Given the description of an element on the screen output the (x, y) to click on. 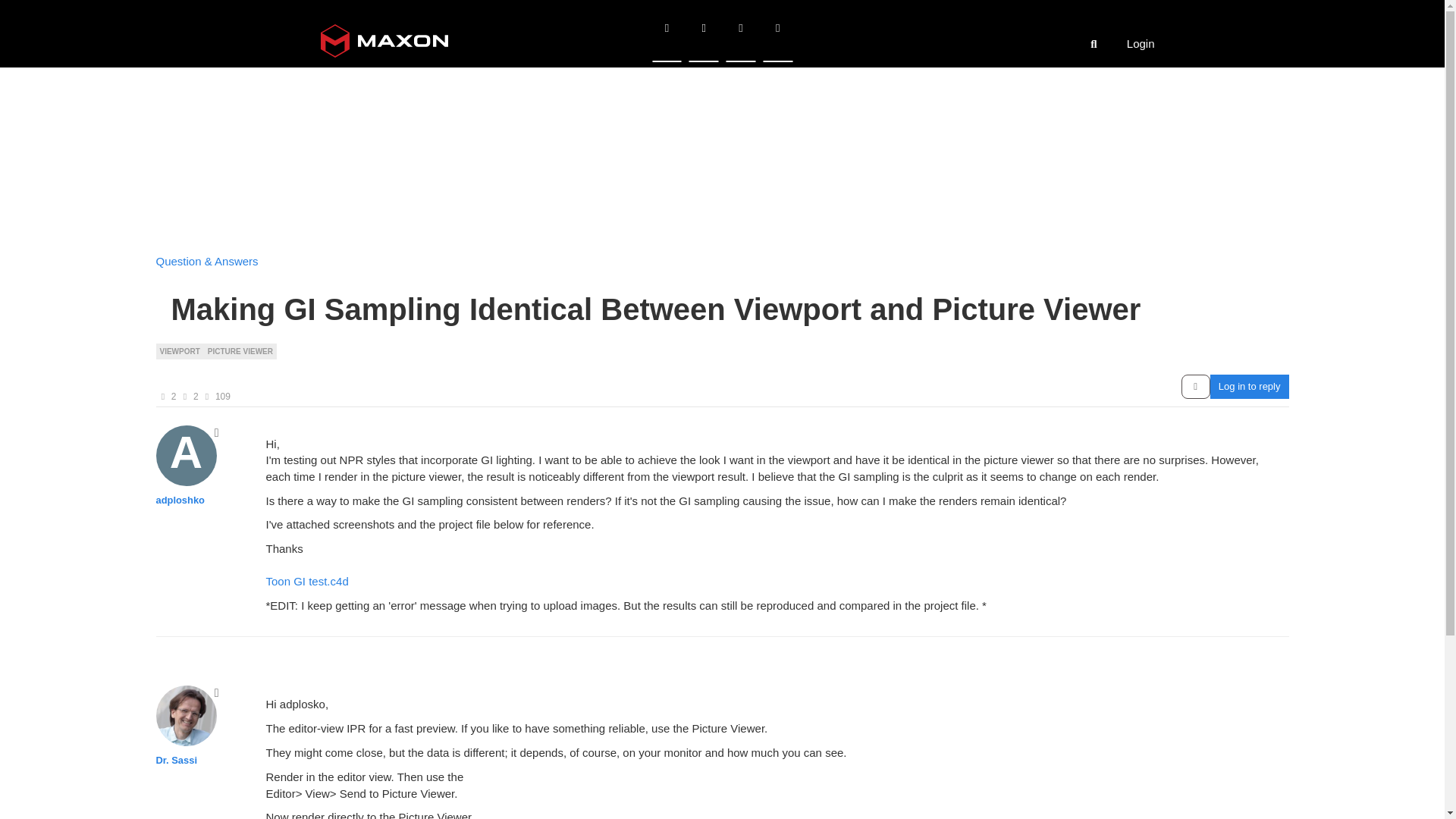
Posters (162, 396)
Posts (184, 396)
adploshko (180, 500)
PICTURE VIEWER (239, 349)
109 (222, 396)
VIEWPORT (179, 349)
Dr. Sassi (175, 759)
Sort by (1194, 386)
Login (1140, 37)
adploshko (185, 455)
Views (207, 396)
Toon GI test.c4d (305, 581)
A (191, 458)
Search (1093, 43)
Log in to reply (1248, 386)
